Given the description of an element on the screen output the (x, y) to click on. 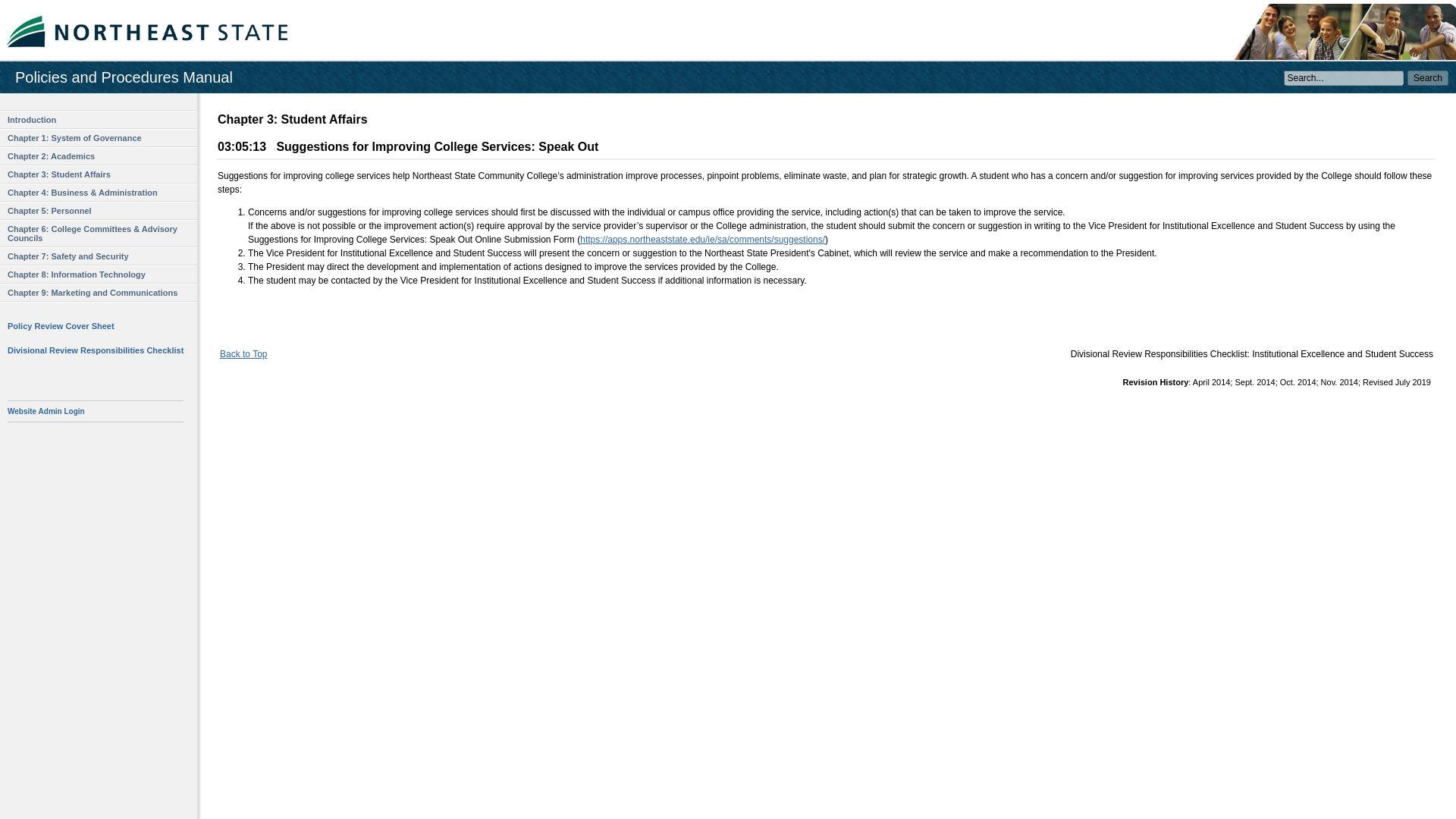
Search... (1343, 77)
Search (1427, 77)
Search (1427, 77)
